Given the description of an element on the screen output the (x, y) to click on. 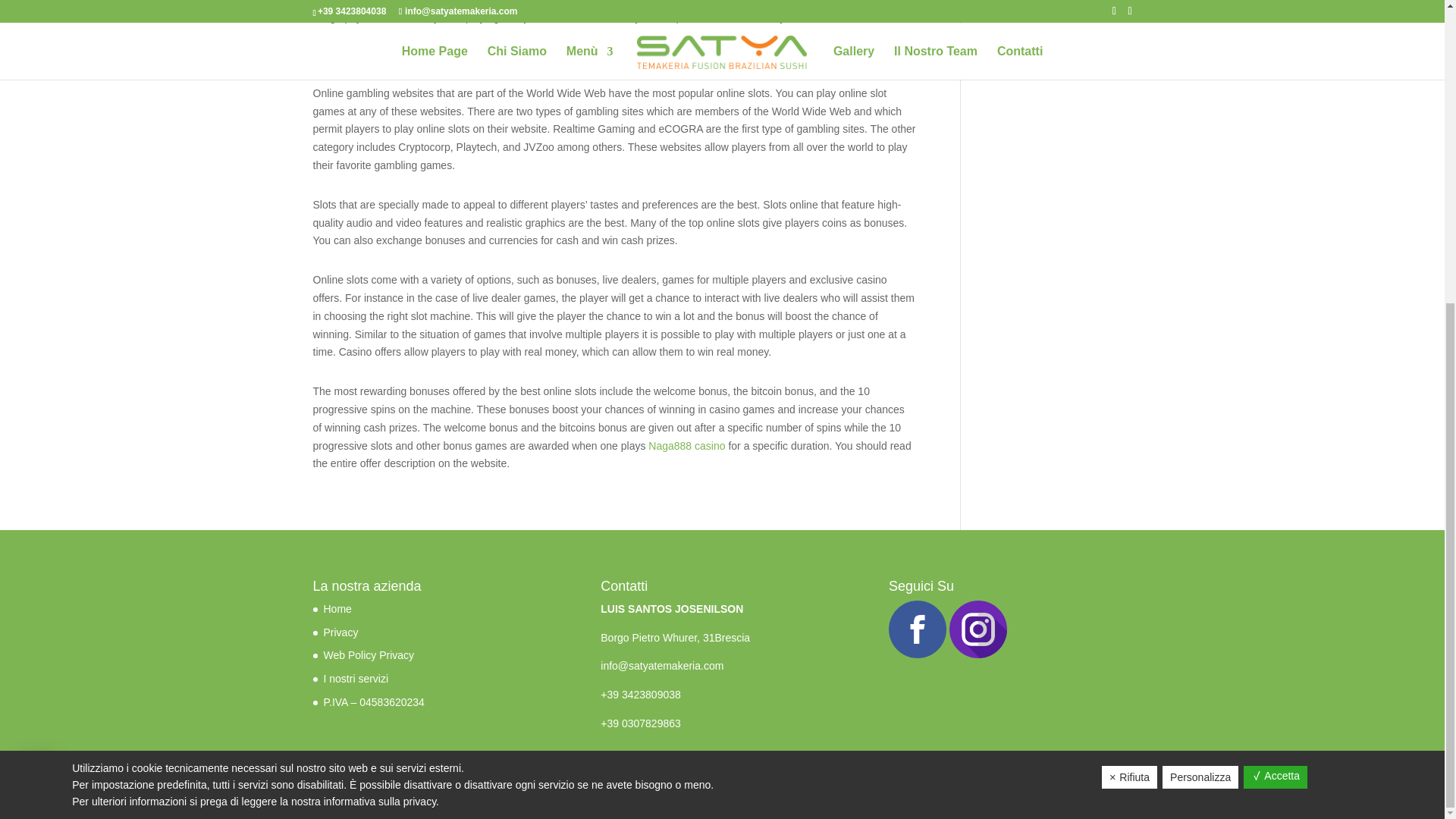
Borgo Pietro Whurer, 31Brescia (674, 637)
Privacy (340, 632)
Web Policy Privacy (368, 654)
I nostri servizi (355, 678)
Naga888 casino (686, 445)
Sito web realizzato ed ottimizzato da PRISMI S.p.A. (441, 797)
Home  (338, 608)
